Given the description of an element on the screen output the (x, y) to click on. 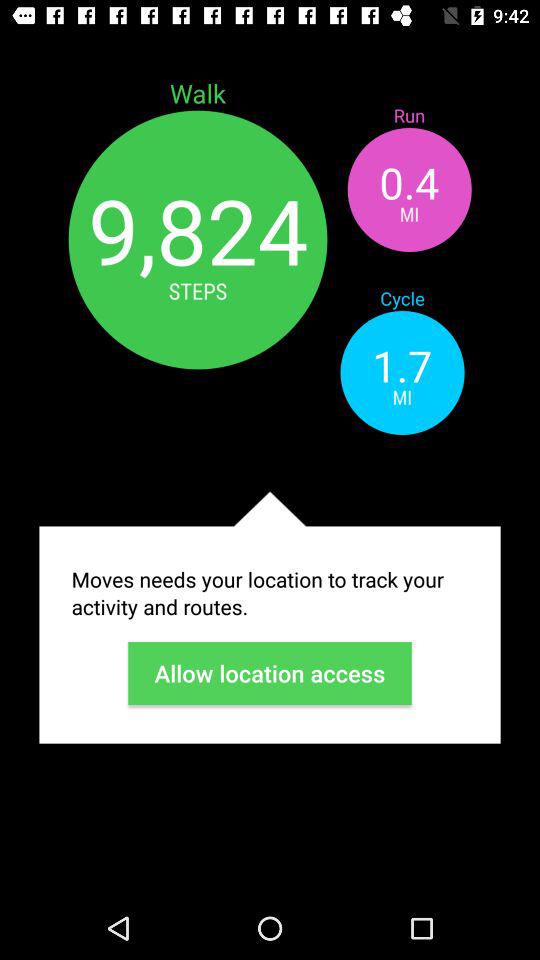
flip until moves needs your icon (269, 593)
